Given the description of an element on the screen output the (x, y) to click on. 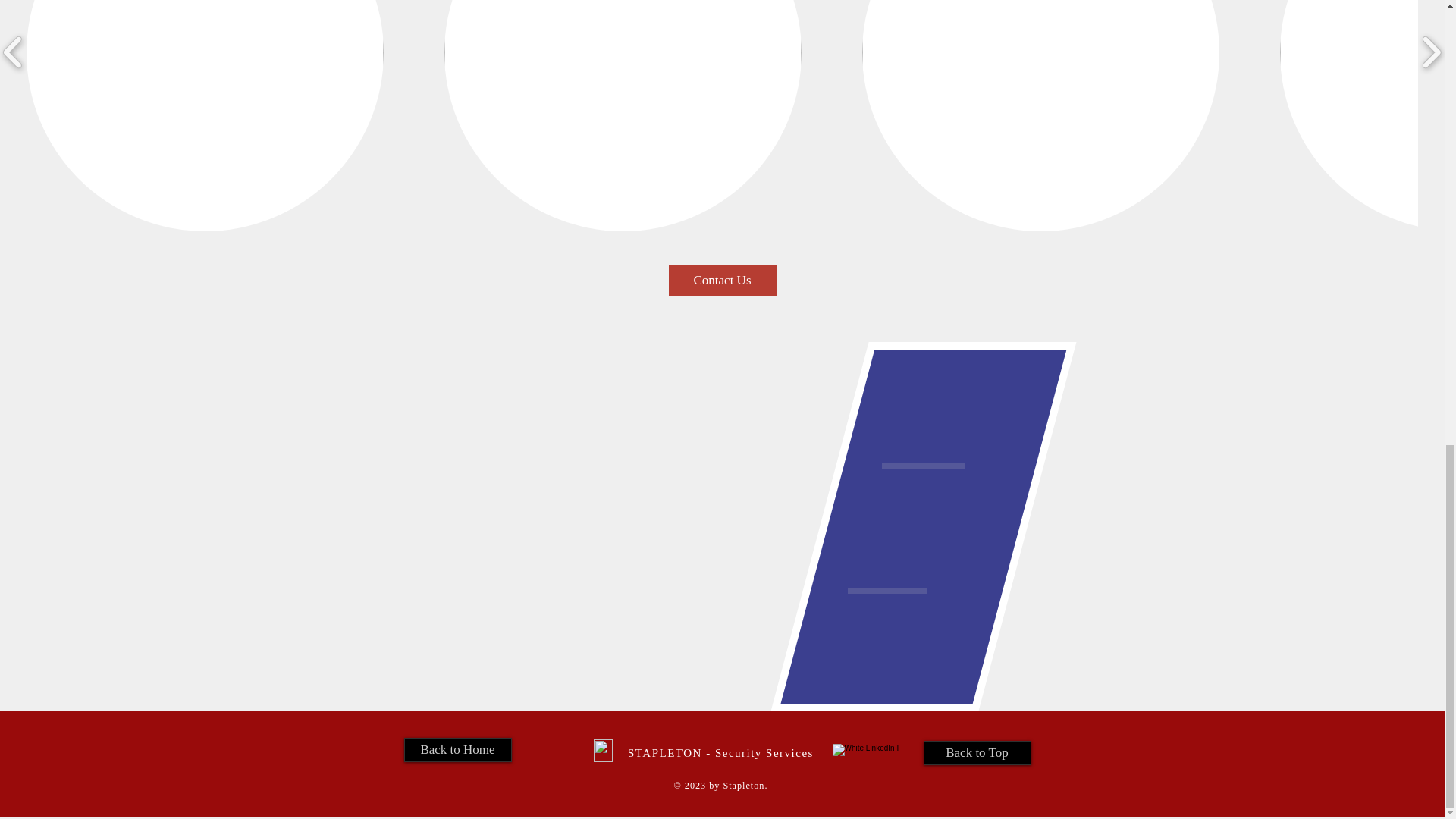
Contact Us (722, 280)
Back to Home (457, 749)
Back to Top (976, 752)
